Given the description of an element on the screen output the (x, y) to click on. 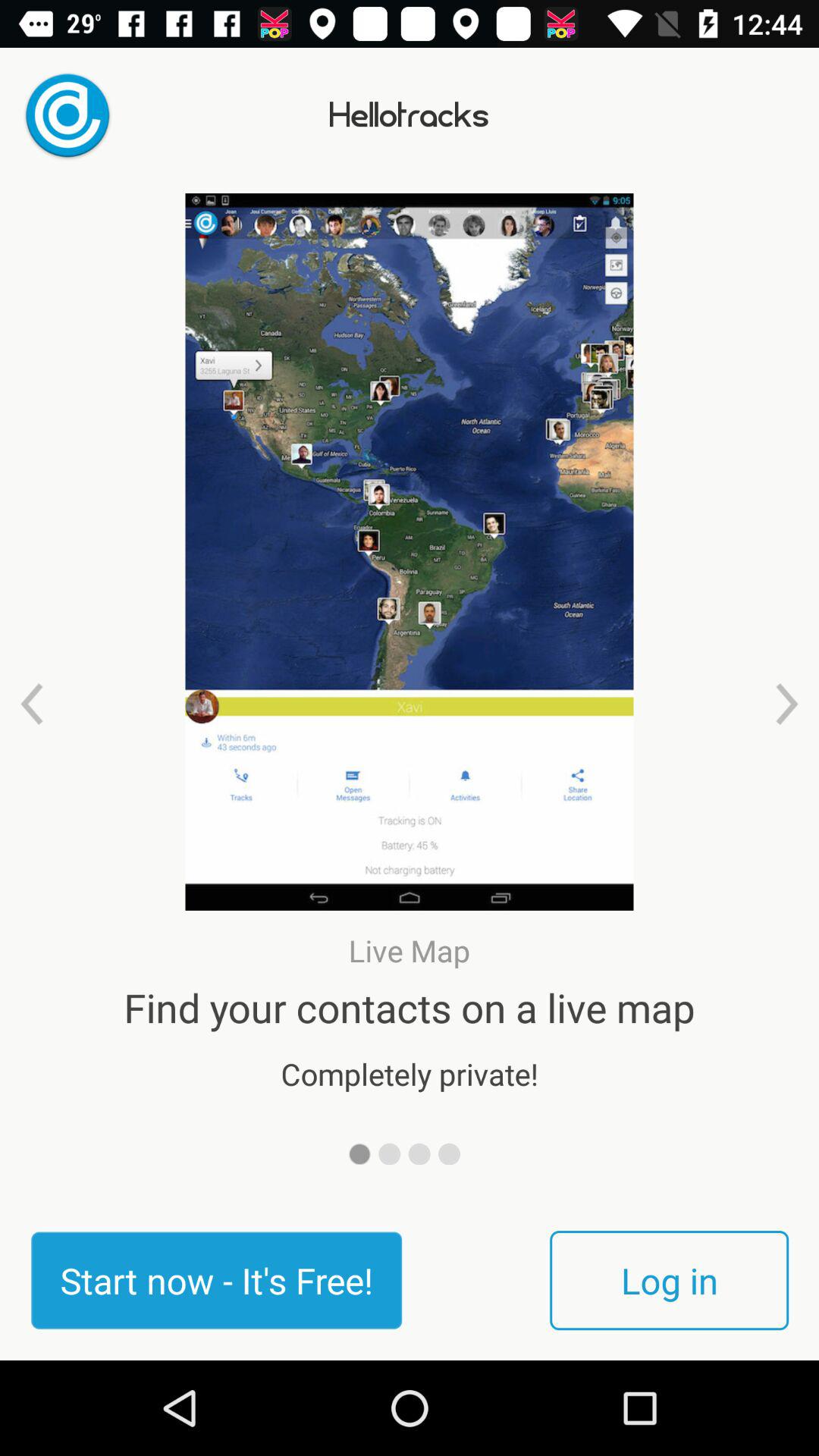
select icon to the left of the log in item (216, 1280)
